Given the description of an element on the screen output the (x, y) to click on. 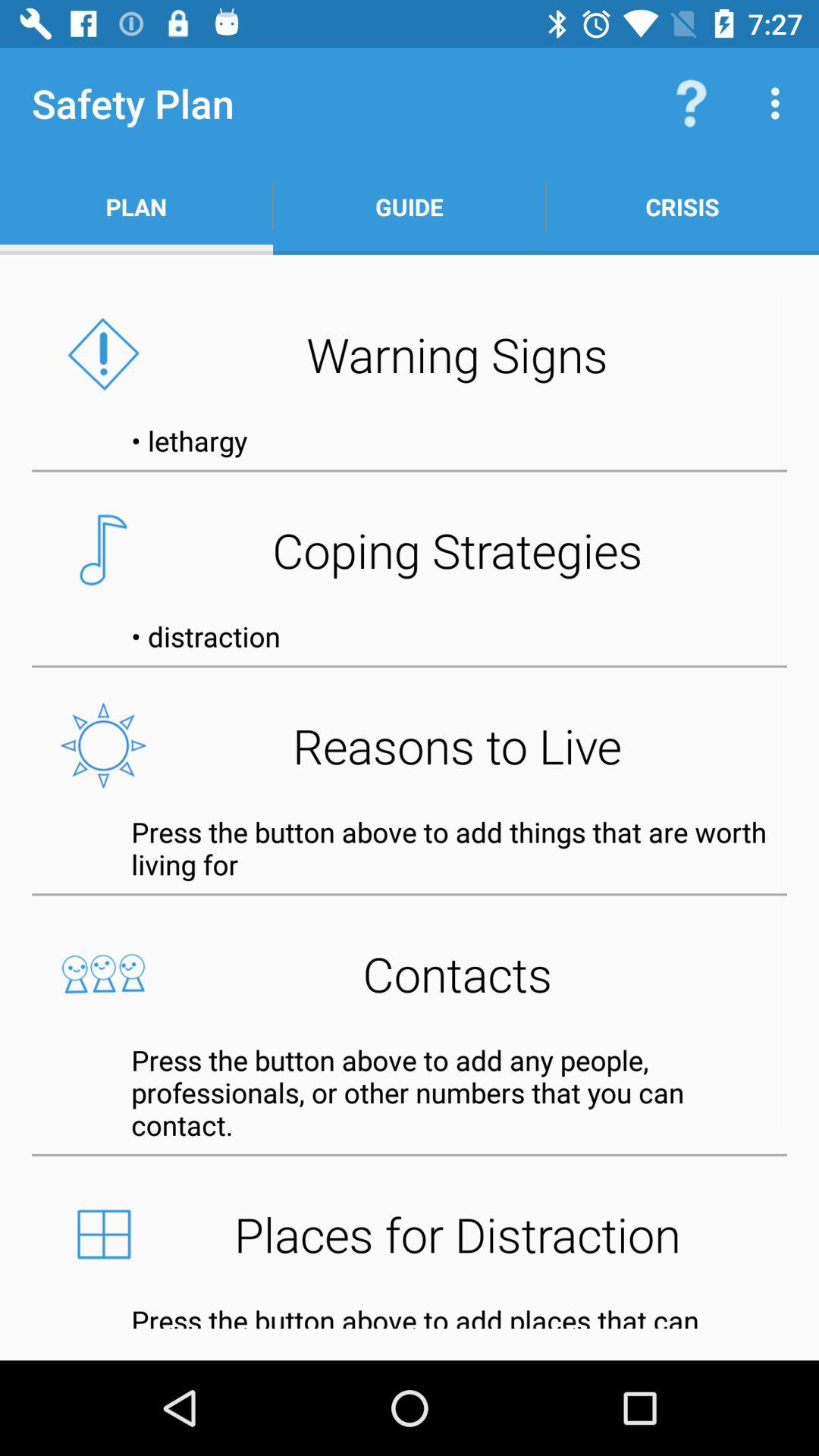
jump to the warning signs icon (409, 354)
